Given the description of an element on the screen output the (x, y) to click on. 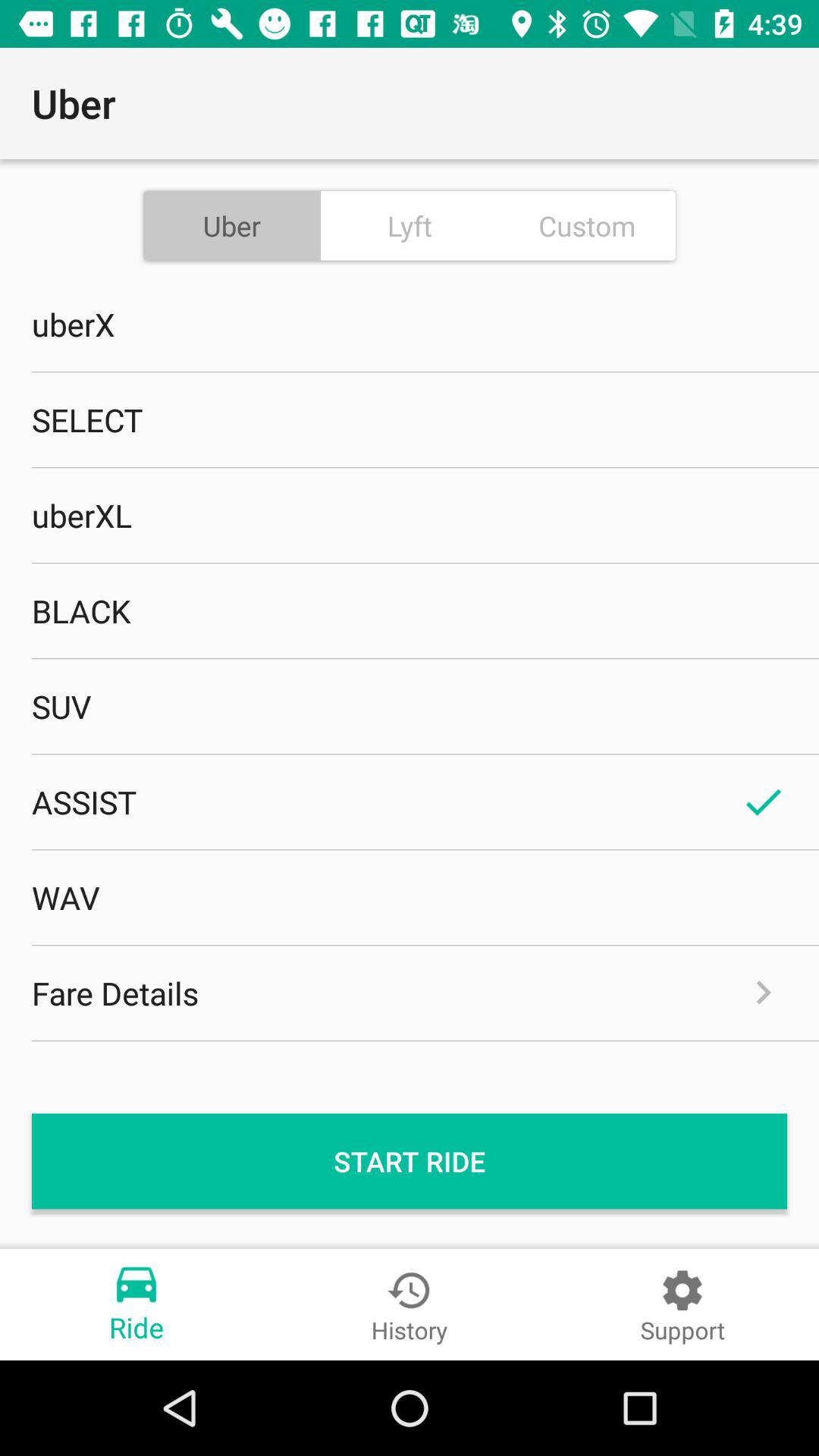
open icon below uberx icon (409, 419)
